Given the description of an element on the screen output the (x, y) to click on. 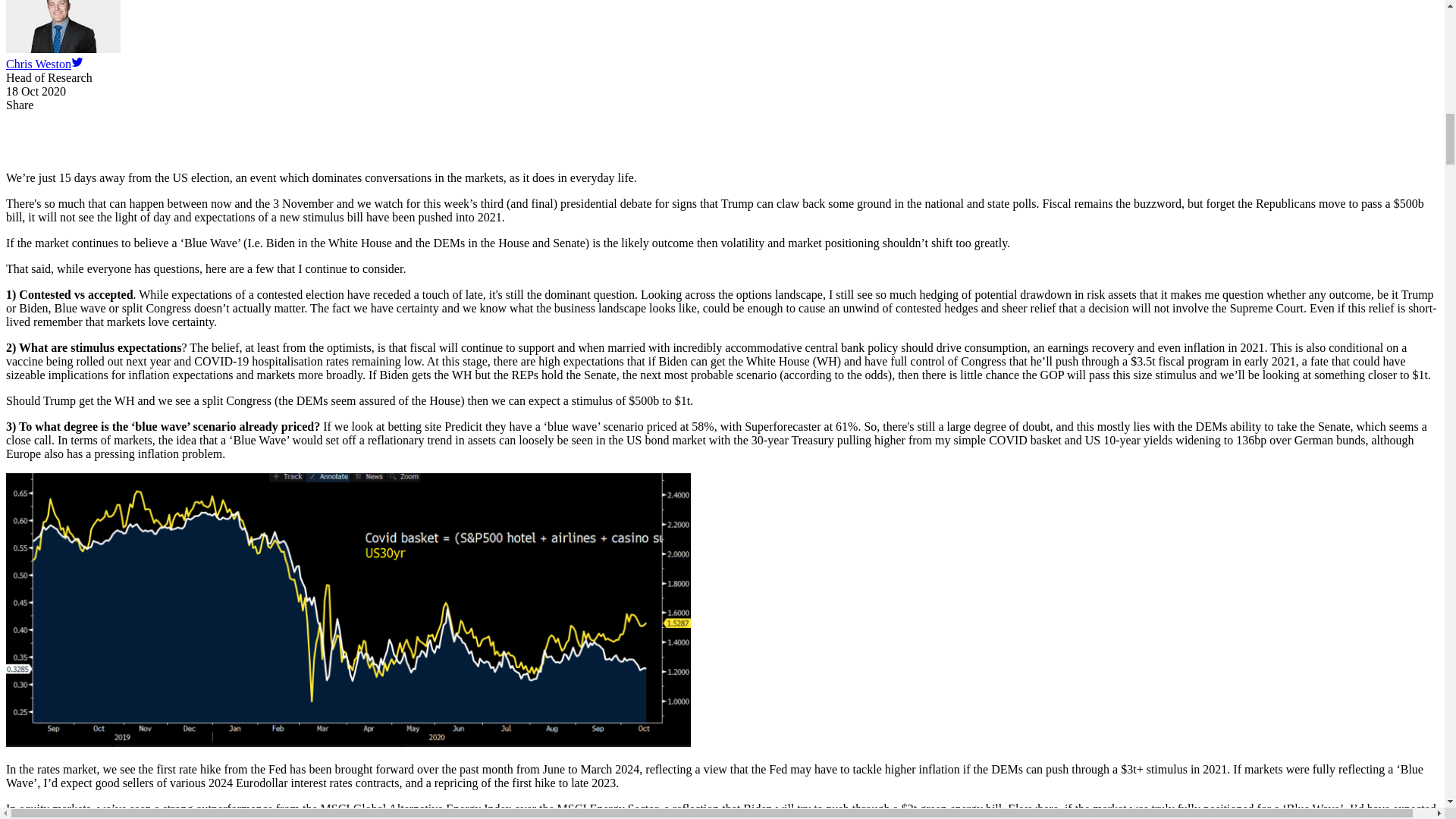
Chris Weston (38, 63)
